Given the description of an element on the screen output the (x, y) to click on. 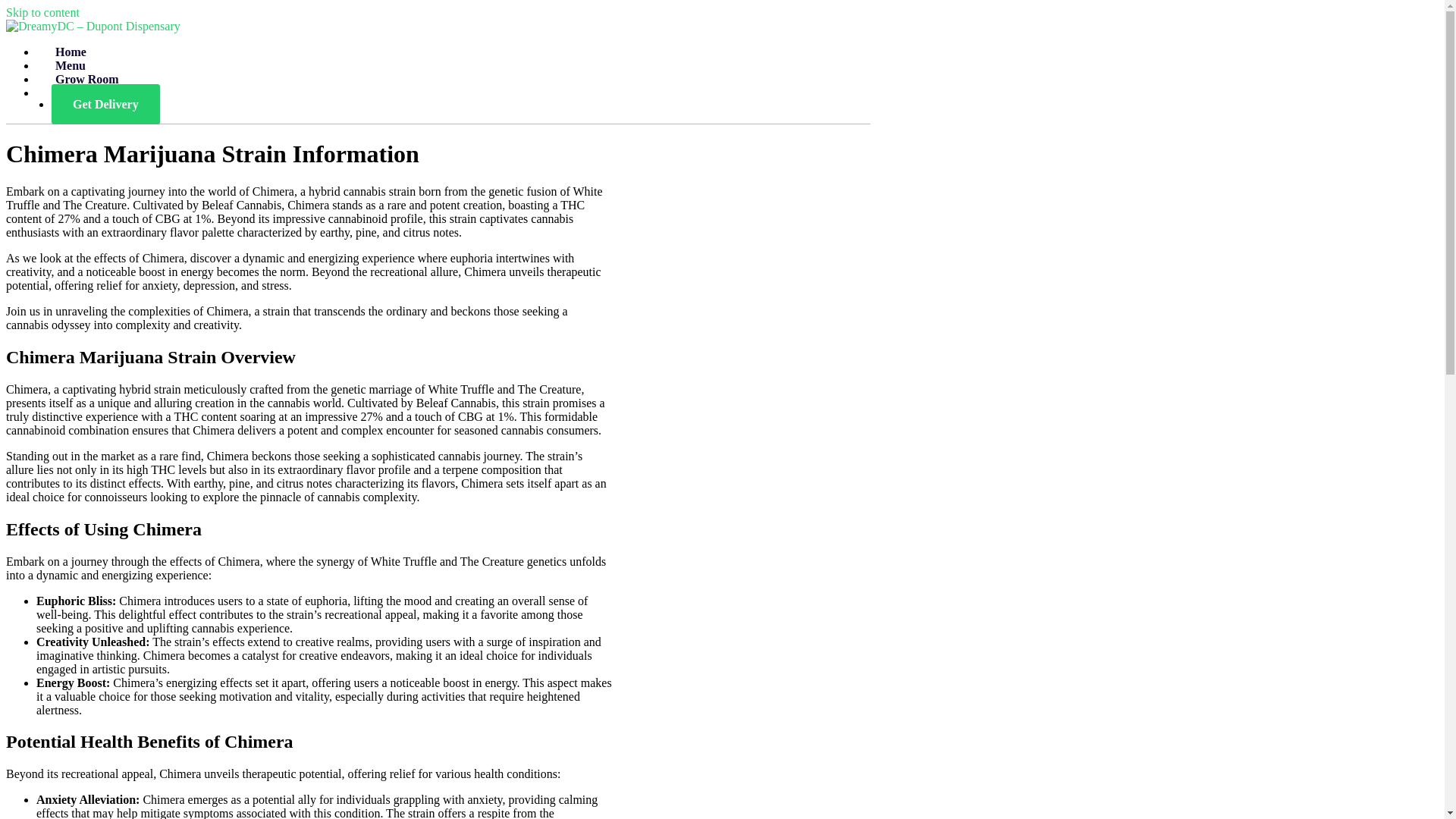
Contact Us (84, 92)
Grow Room (87, 78)
Get Delivery (105, 104)
Menu (70, 65)
Skip to content (42, 11)
Home (70, 51)
